Given the description of an element on the screen output the (x, y) to click on. 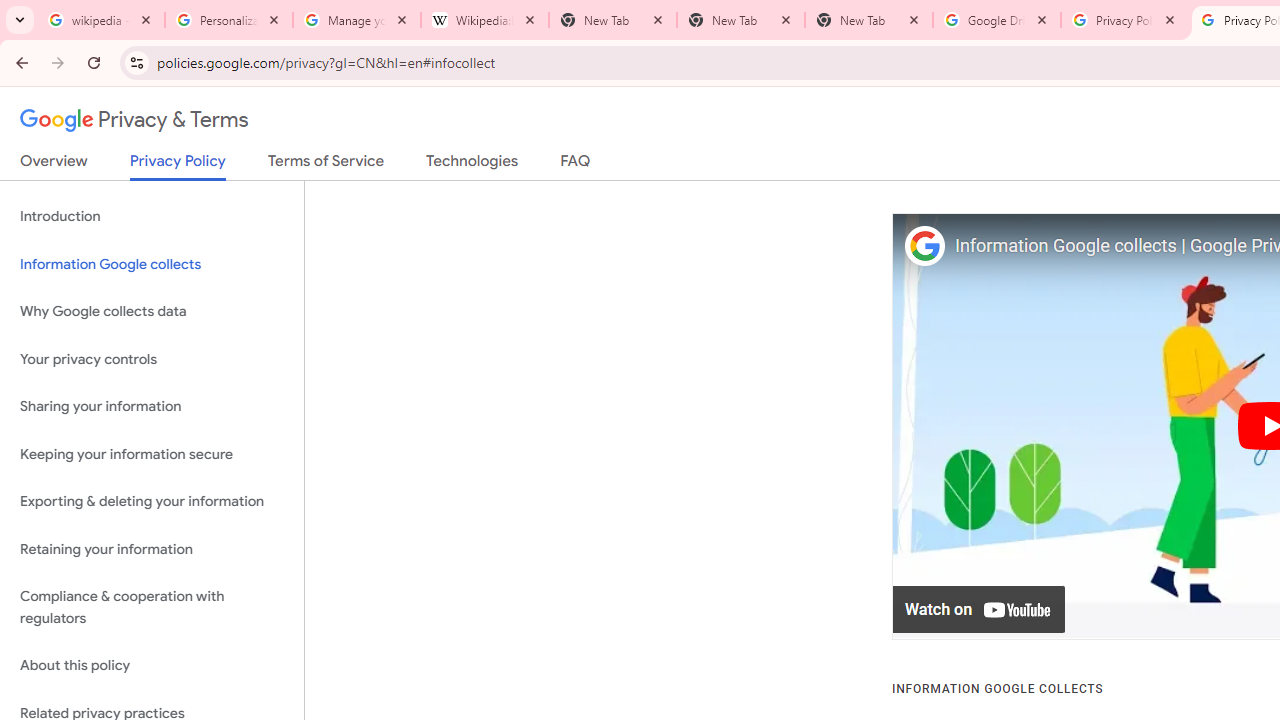
Exporting & deleting your information (152, 502)
Photo image of Google (924, 246)
Wikipedia:Edit requests - Wikipedia (485, 20)
New Tab (869, 20)
Compliance & cooperation with regulators (152, 607)
Retaining your information (152, 548)
New Tab (741, 20)
Watch on YouTube (979, 610)
Keeping your information secure (152, 453)
Google Drive: Sign-in (997, 20)
Your privacy controls (152, 358)
